Given the description of an element on the screen output the (x, y) to click on. 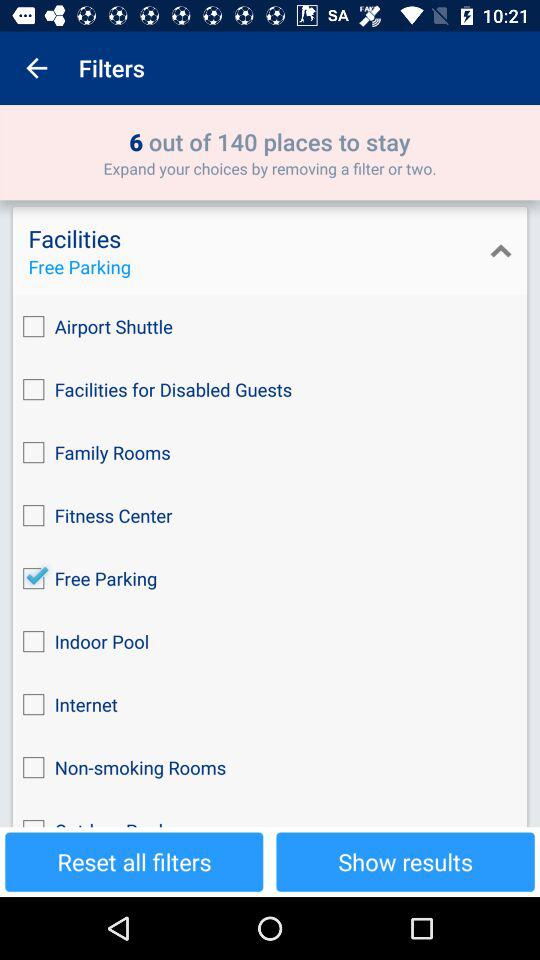
swipe to the family rooms checkbox (269, 452)
